Given the description of an element on the screen output the (x, y) to click on. 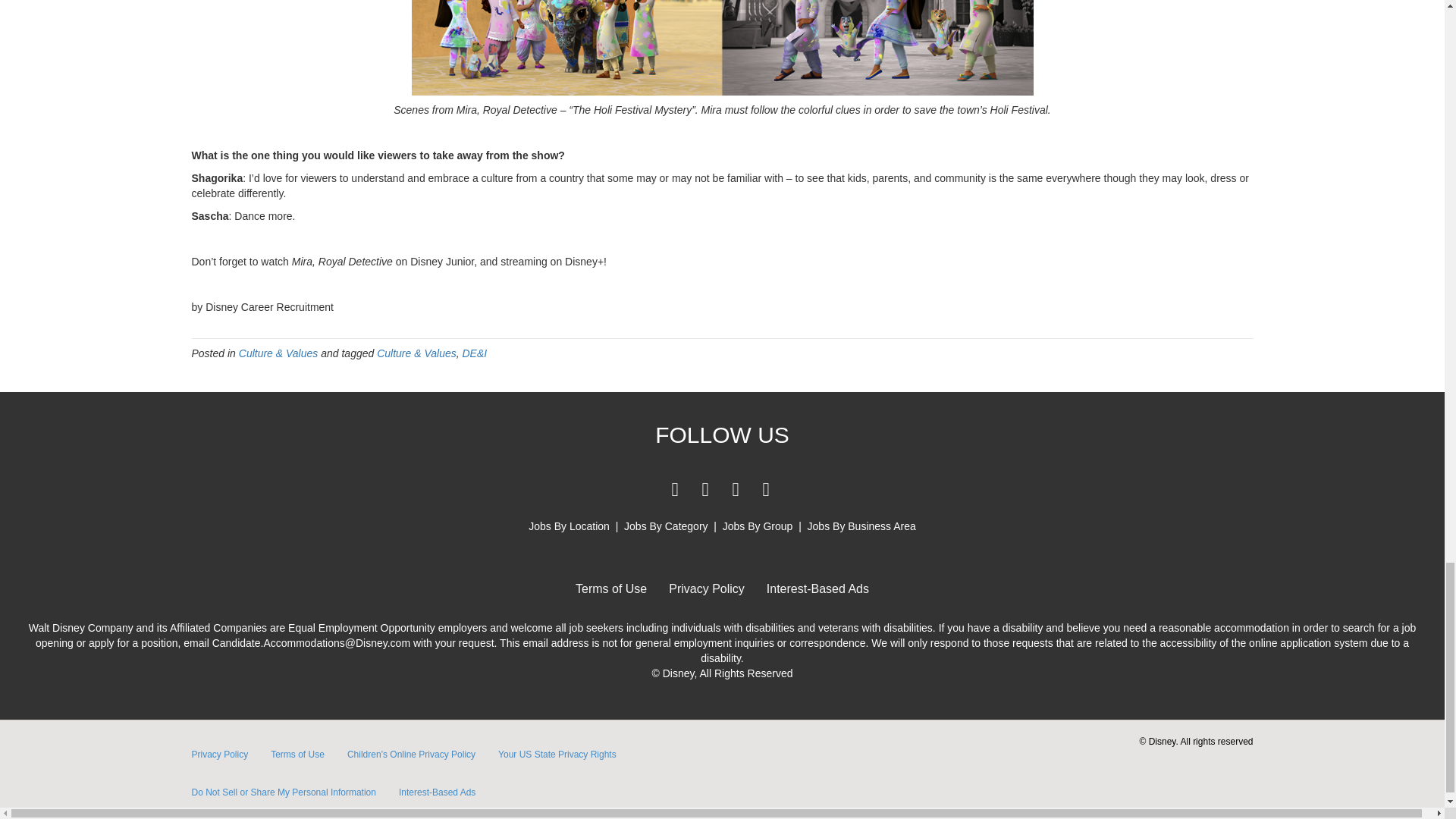
Jobs By Business Area (861, 526)
Your US State Privacy Rights (556, 754)
Instagram (765, 489)
Jobs By Group (757, 526)
Terms of Use (611, 589)
Interest-Based Ads (436, 792)
LinkedIn (705, 489)
Interest-Based Ads (817, 589)
Do Not Sell or Share My Personal Information (283, 792)
Privacy Policy (706, 589)
